Given the description of an element on the screen output the (x, y) to click on. 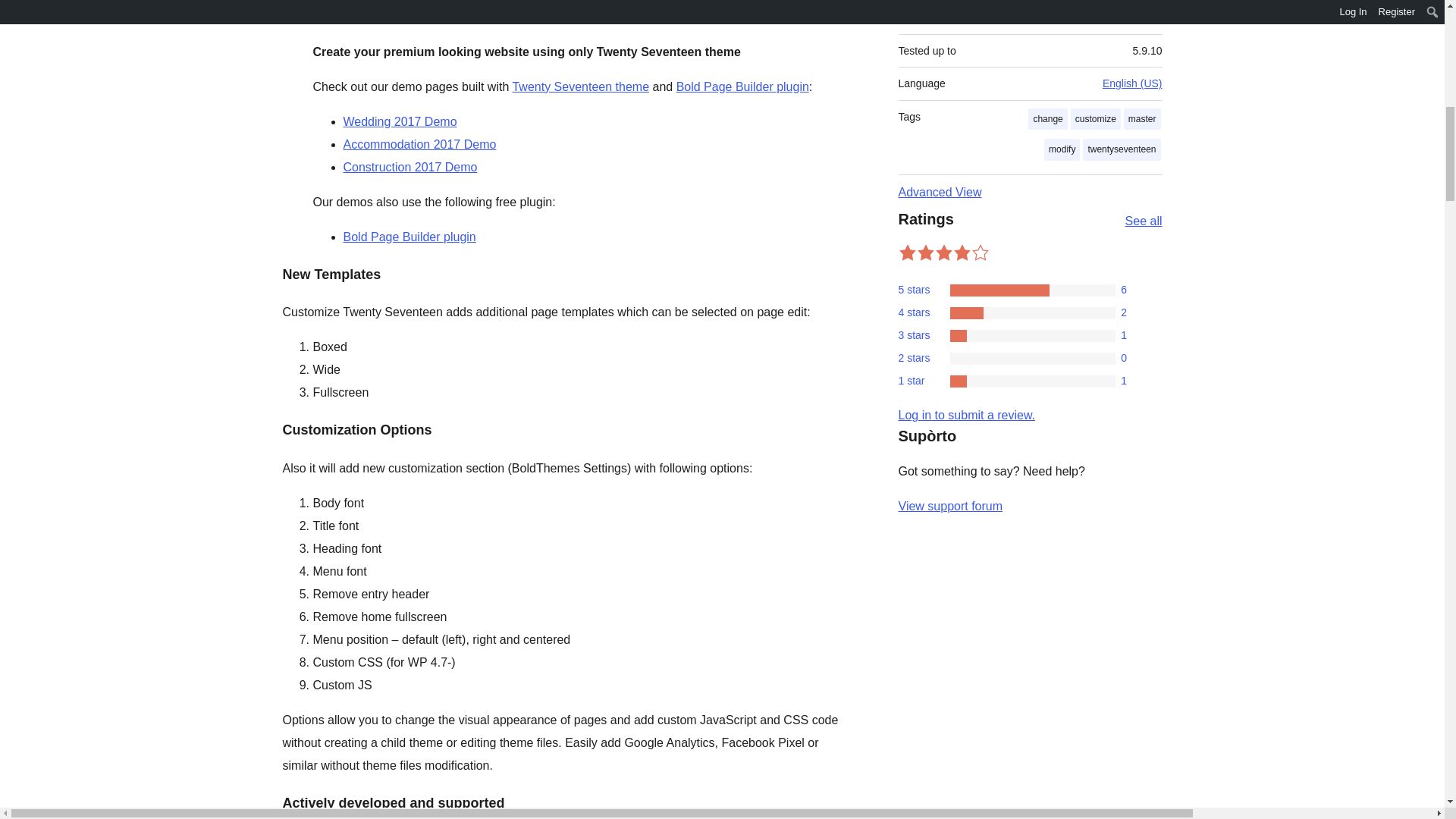
Log in to WordPress.org (966, 414)
Construction company WordPress Website Demo (409, 166)
Bold Page Builder plugin (743, 86)
Wedding WordPress Website Demo (399, 121)
Accommodation 2017 Demo (419, 144)
Bold Page Builder plugin (409, 236)
Accomodation WordPress Website Demo (419, 144)
Twenty Seventeen theme (580, 86)
Construction 2017 Demo (409, 166)
Bold Page Builder Plugin (409, 236)
Wedding 2017 Demo (399, 121)
